Given the description of an element on the screen output the (x, y) to click on. 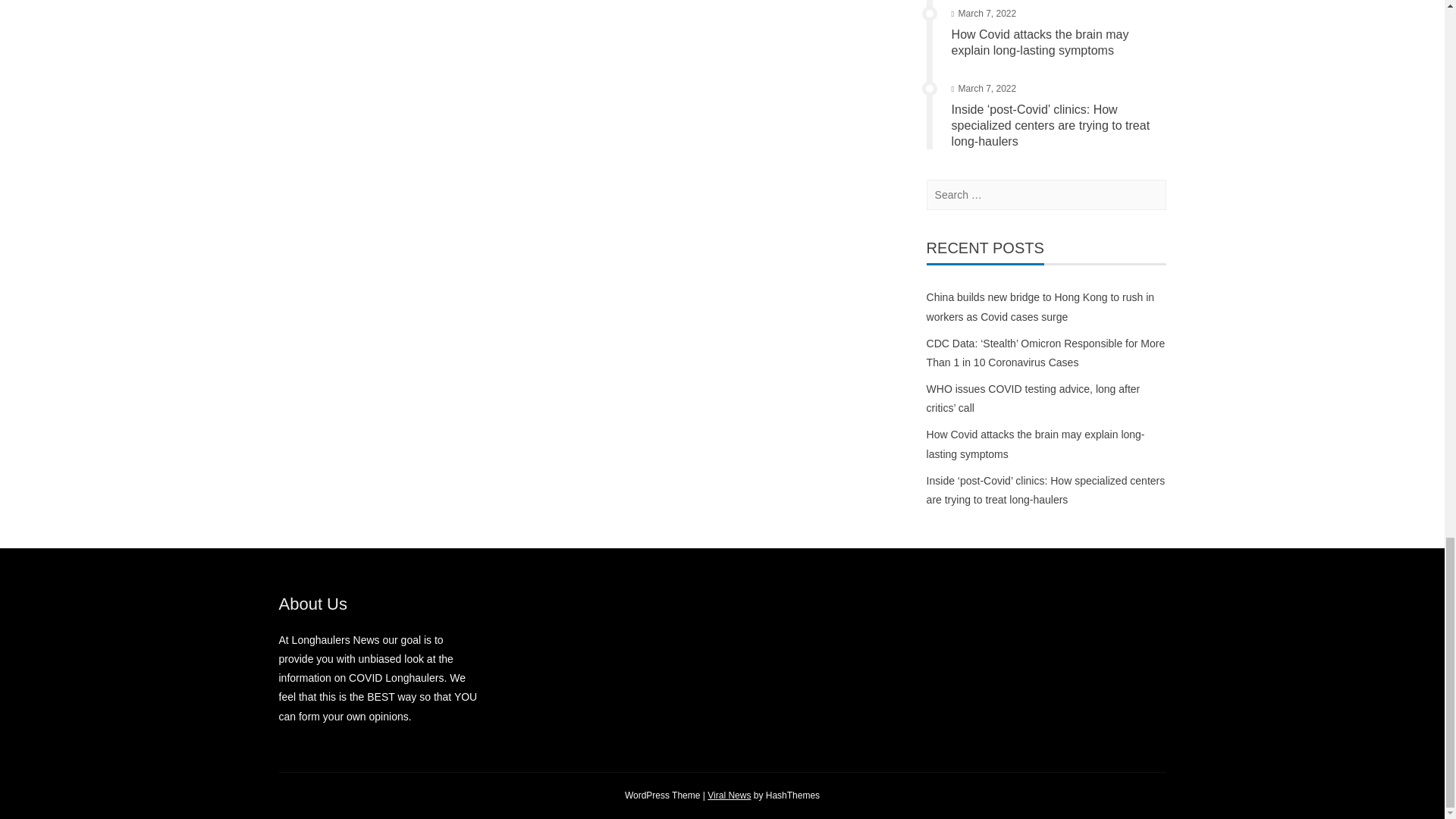
Download Viral News (729, 795)
